Given the description of an element on the screen output the (x, y) to click on. 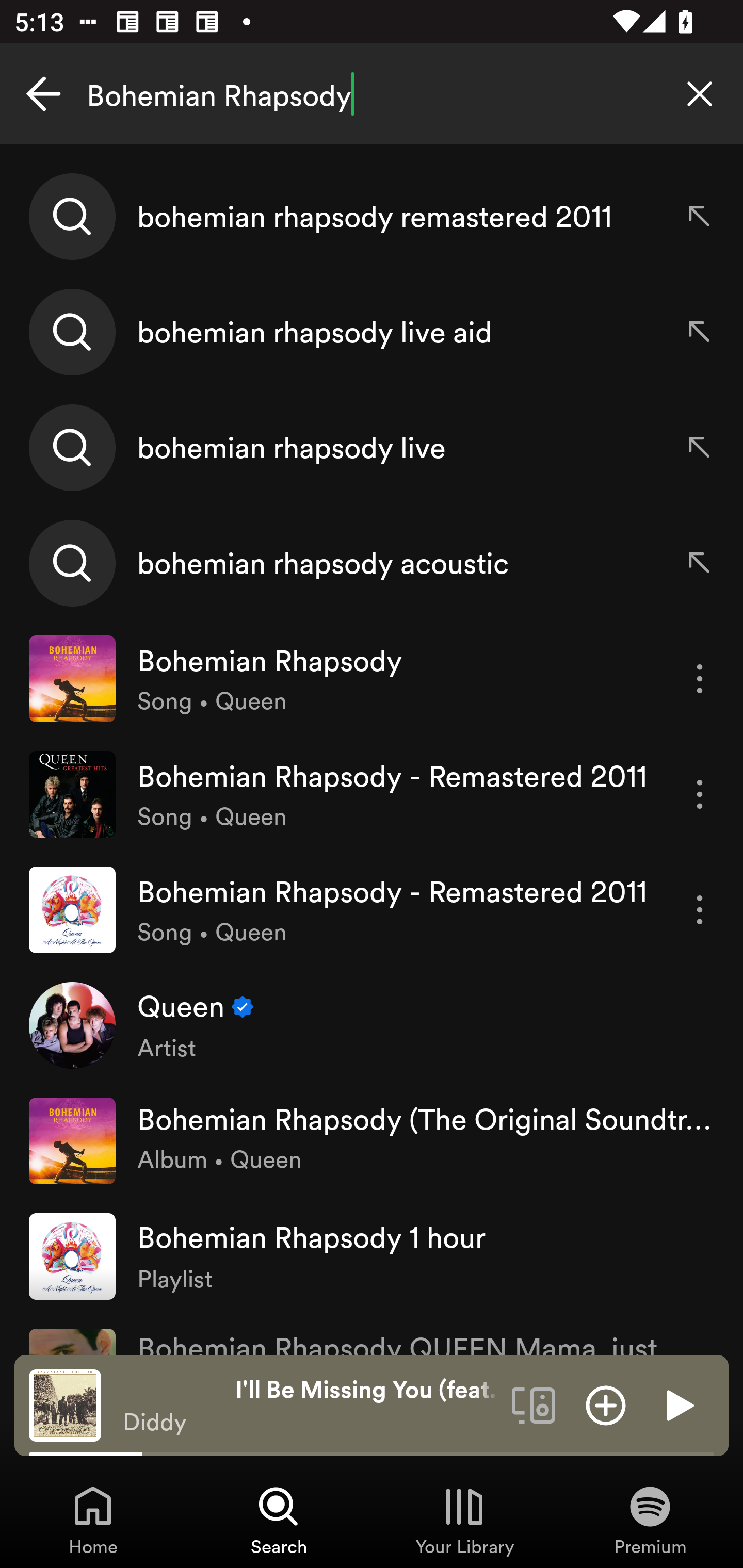
Bohemian Rhapsody (371, 93)
Cancel (43, 93)
Clear search query (699, 93)
bohemian rhapsody remastered 2011 (371, 216)
bohemian rhapsody live aid (371, 332)
bohemian rhapsody live (371, 447)
bohemian rhapsody acoustic (371, 562)
More options for song Bohemian Rhapsody (699, 678)
Queen Verified Artist (371, 1025)
Bohemian Rhapsody 1 hour Playlist (371, 1255)
The cover art of the currently playing track (64, 1404)
Connect to a device. Opens the devices menu (533, 1404)
Add item (605, 1404)
Play (677, 1404)
Home, Tab 1 of 4 Home Home (92, 1519)
Search, Tab 2 of 4 Search Search (278, 1519)
Your Library, Tab 3 of 4 Your Library Your Library (464, 1519)
Premium, Tab 4 of 4 Premium Premium (650, 1519)
